Given the description of an element on the screen output the (x, y) to click on. 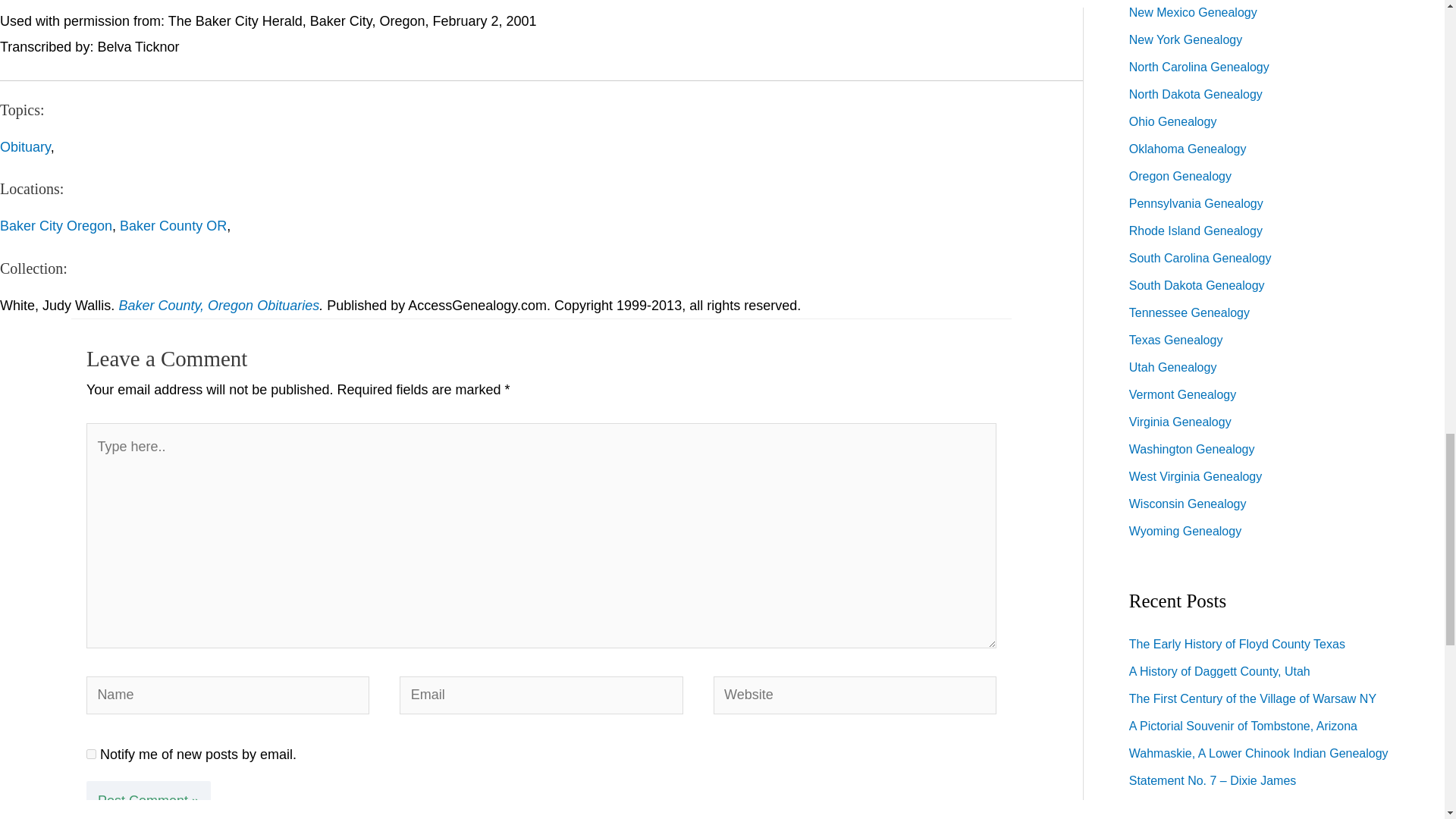
Baker County, Oregon Obituaries (217, 305)
Baker City Oregon (56, 225)
Obituary (25, 146)
Baker County OR (173, 225)
subscribe (90, 754)
